Given the description of an element on the screen output the (x, y) to click on. 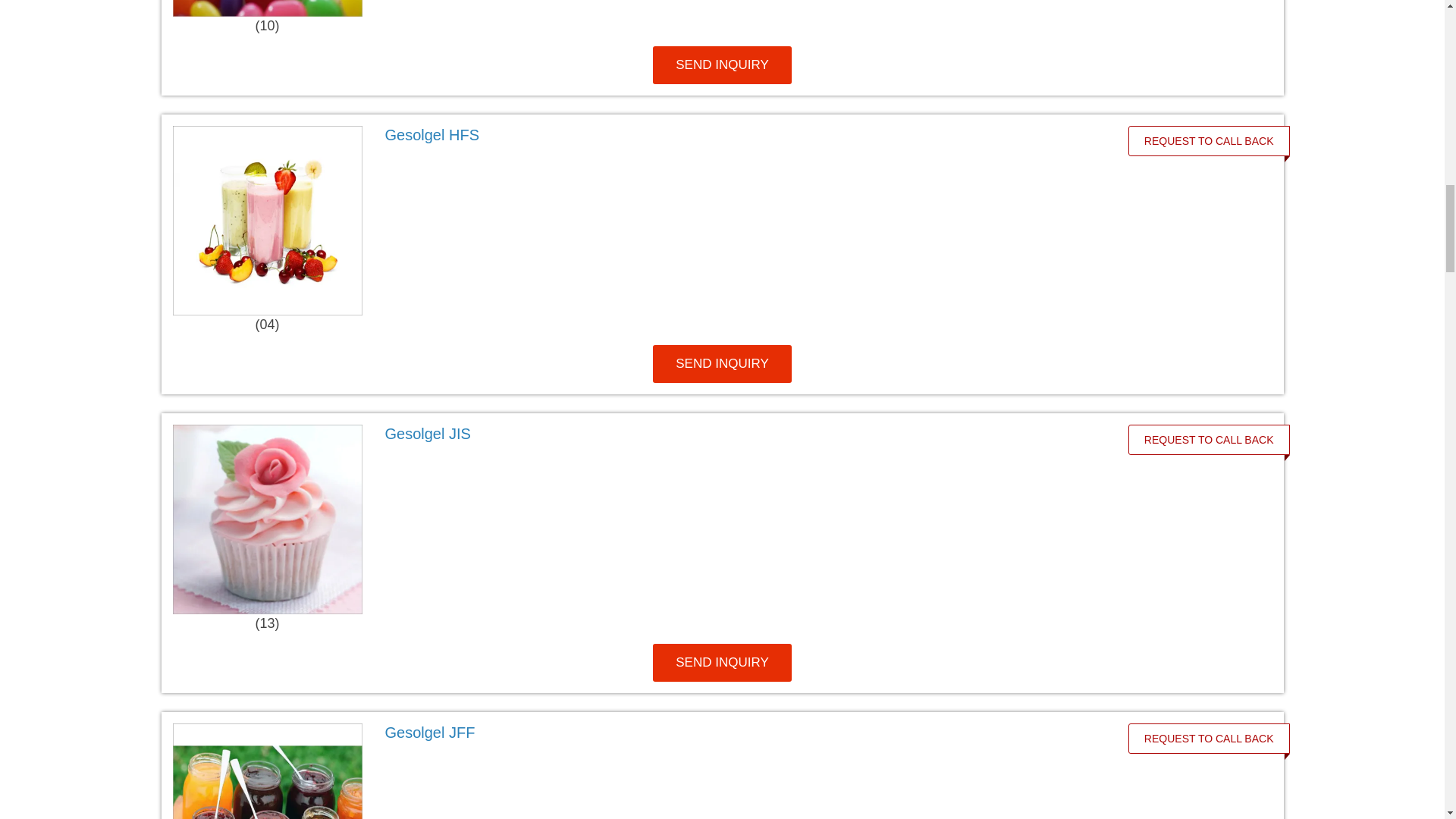
Gesolgel JFF (739, 732)
Gesolgel JIS (739, 434)
Gesolgel HFS (739, 135)
